Given the description of an element on the screen output the (x, y) to click on. 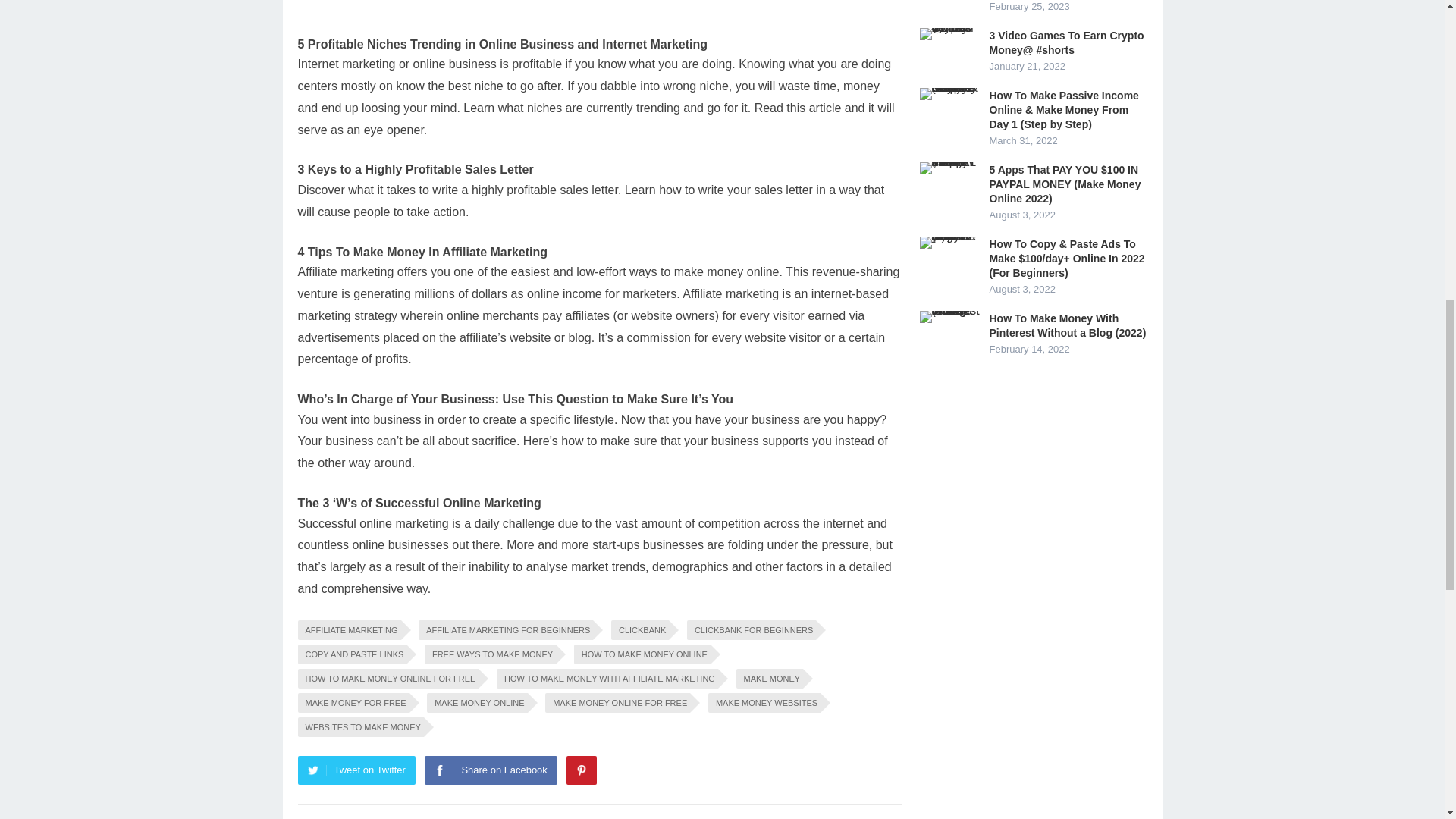
CLICKBANK (639, 629)
MAKE MONEY ONLINE (476, 702)
AFFILIATE MARKETING (348, 629)
HOW TO MAKE MONEY ONLINE (641, 654)
HOW TO MAKE MONEY WITH AFFILIATE MARKETING (606, 678)
MAKE MONEY FOR FREE (353, 702)
CLICKBANK FOR BEGINNERS (751, 629)
HOW TO MAKE MONEY ONLINE FOR FREE (388, 678)
FREE WAYS TO MAKE MONEY (490, 654)
AFFILIATE MARKETING FOR BEGINNERS (505, 629)
COPY AND PASTE LINKS (351, 654)
MAKE MONEY (769, 678)
